Given the description of an element on the screen output the (x, y) to click on. 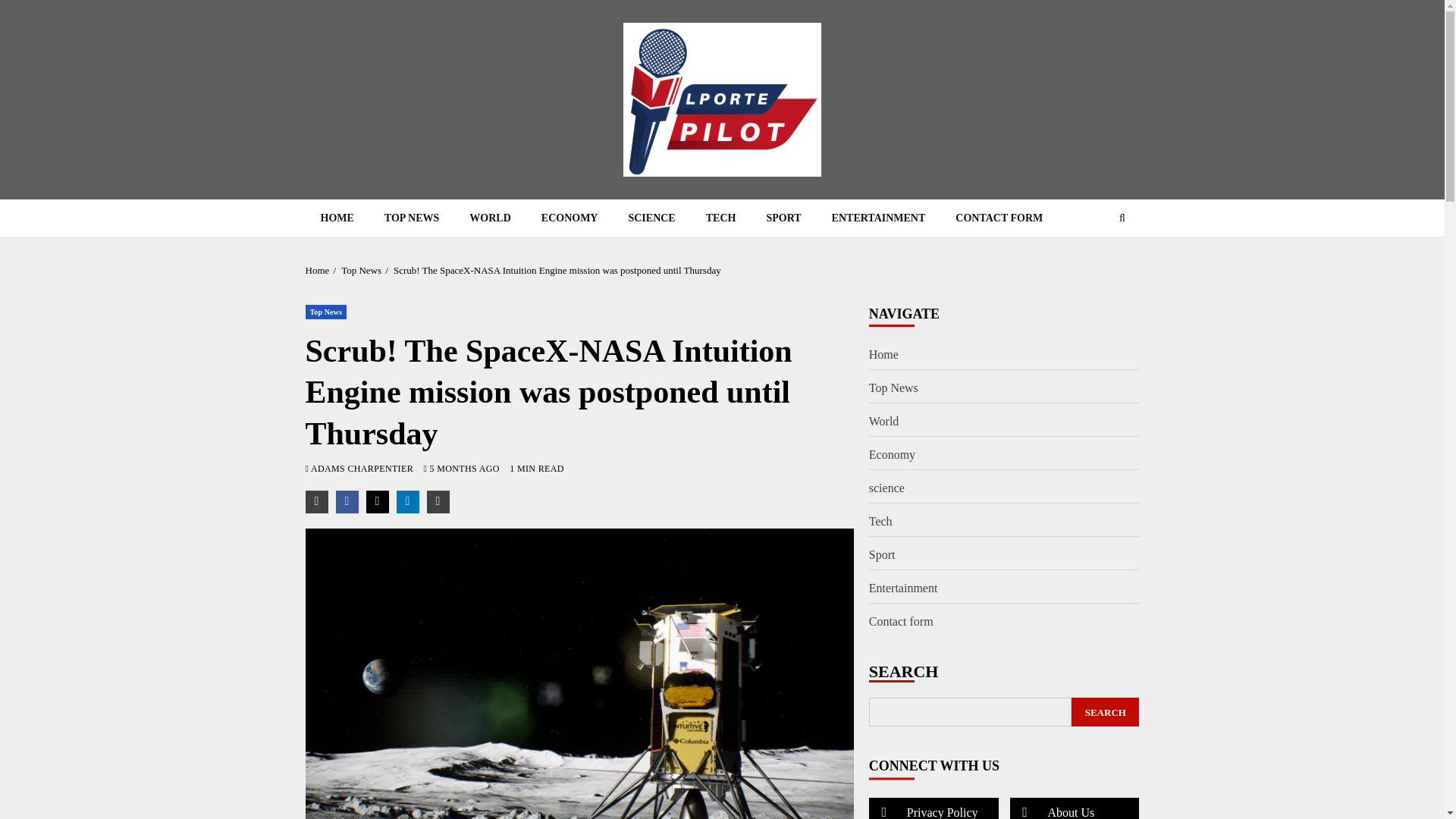
SPORT (783, 217)
WORLD (489, 217)
CONTACT FORM (999, 217)
ADAMS CHARPENTIER (363, 468)
Top News (325, 311)
Home (316, 270)
Search (1092, 263)
Search (1122, 217)
TECH (720, 217)
TOP NEWS (411, 217)
ECONOMY (568, 217)
ENTERTAINMENT (878, 217)
HOME (336, 217)
